Given the description of an element on the screen output the (x, y) to click on. 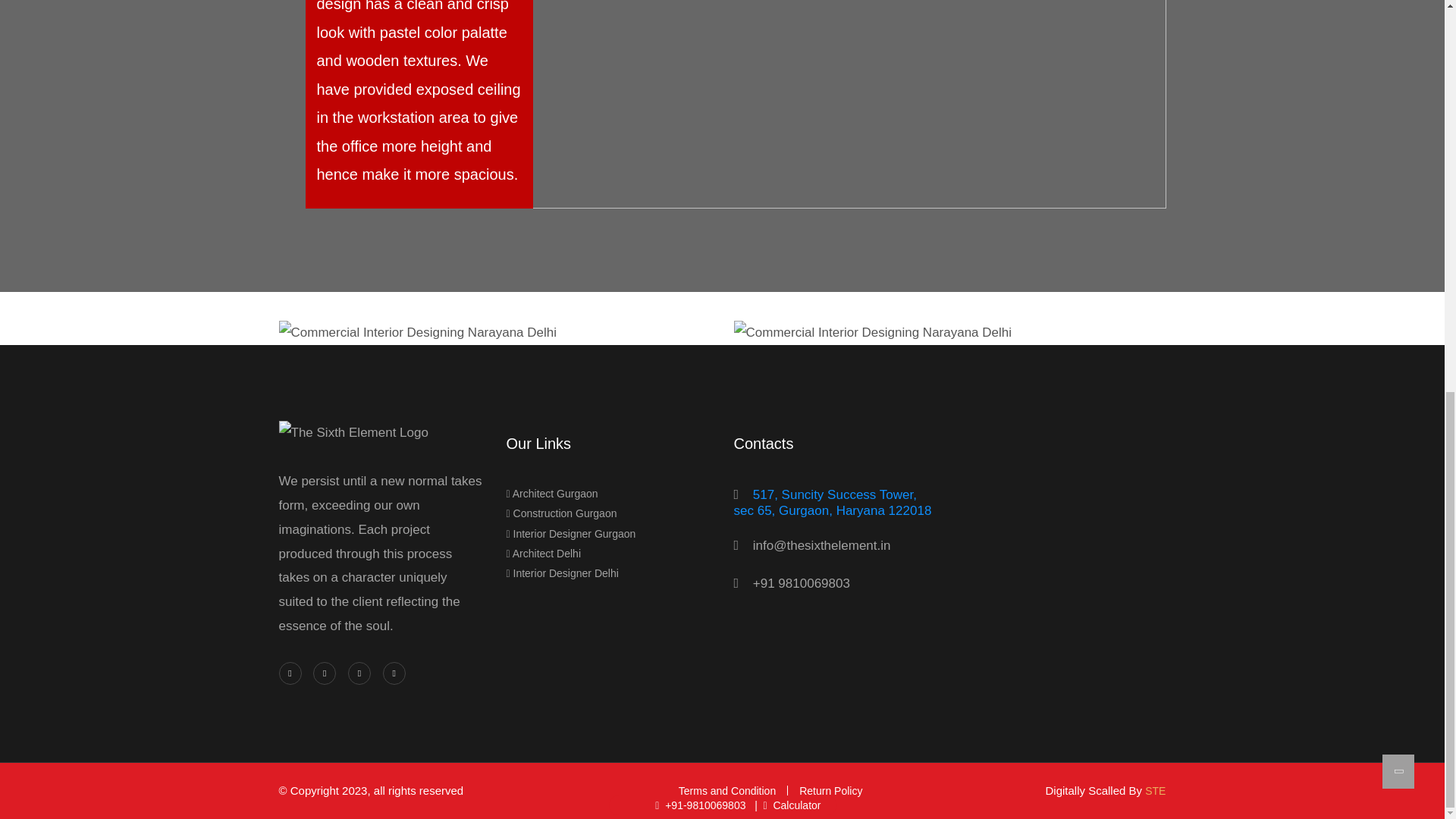
Commercial Interior Designing Services in Narayana Delhi (872, 332)
517, Suncity Success Tower, sec 65, Gurgaon, Haryana 122018 (832, 502)
STE (1155, 790)
The Sixth Element Youtube (394, 672)
Construction Company in Gurgaon (561, 512)
Interior Designer in Gurgaon (571, 533)
The Sixth Element Facebook (290, 672)
The Sixth Element (353, 444)
The Sixth Element Linkedin (324, 672)
The Sixth Element Instagram (359, 672)
Architect in Gurgaon (552, 493)
Return Policy (824, 790)
Construction Gurgaon (561, 512)
Commercial Interior Designing Services in Narayana Delhi (418, 332)
